Given the description of an element on the screen output the (x, y) to click on. 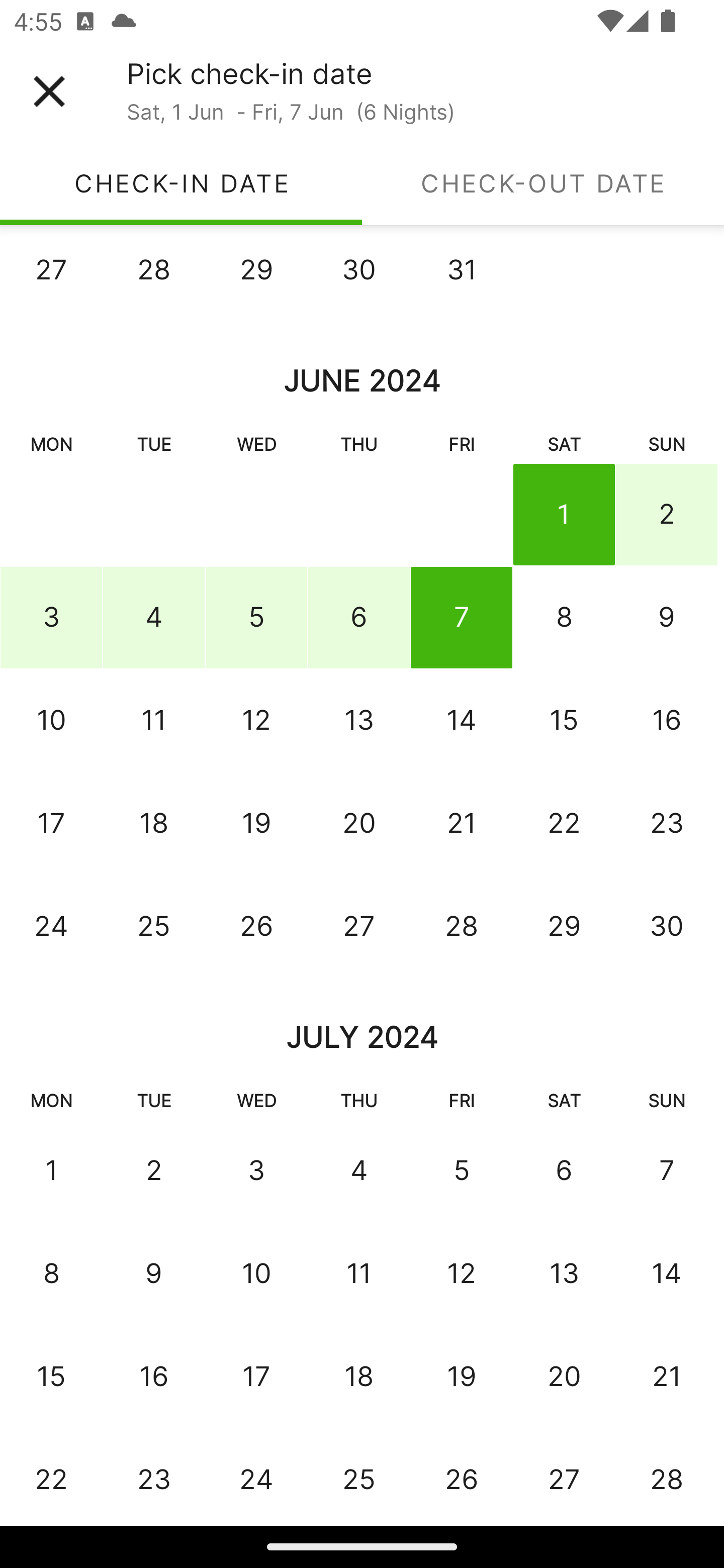
Check-out Date CHECK-OUT DATE (543, 183)
